Given the description of an element on the screen output the (x, y) to click on. 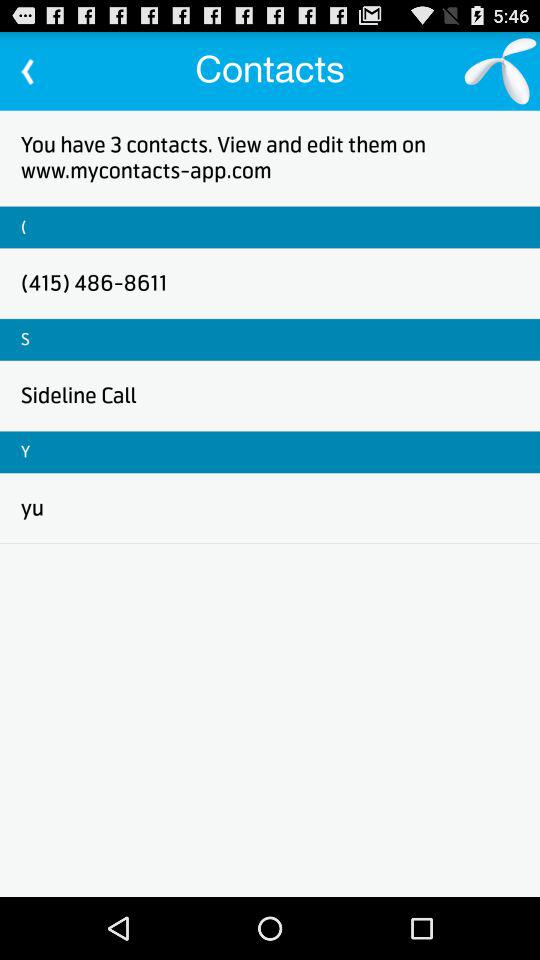
jump to s (25, 339)
